Given the description of an element on the screen output the (x, y) to click on. 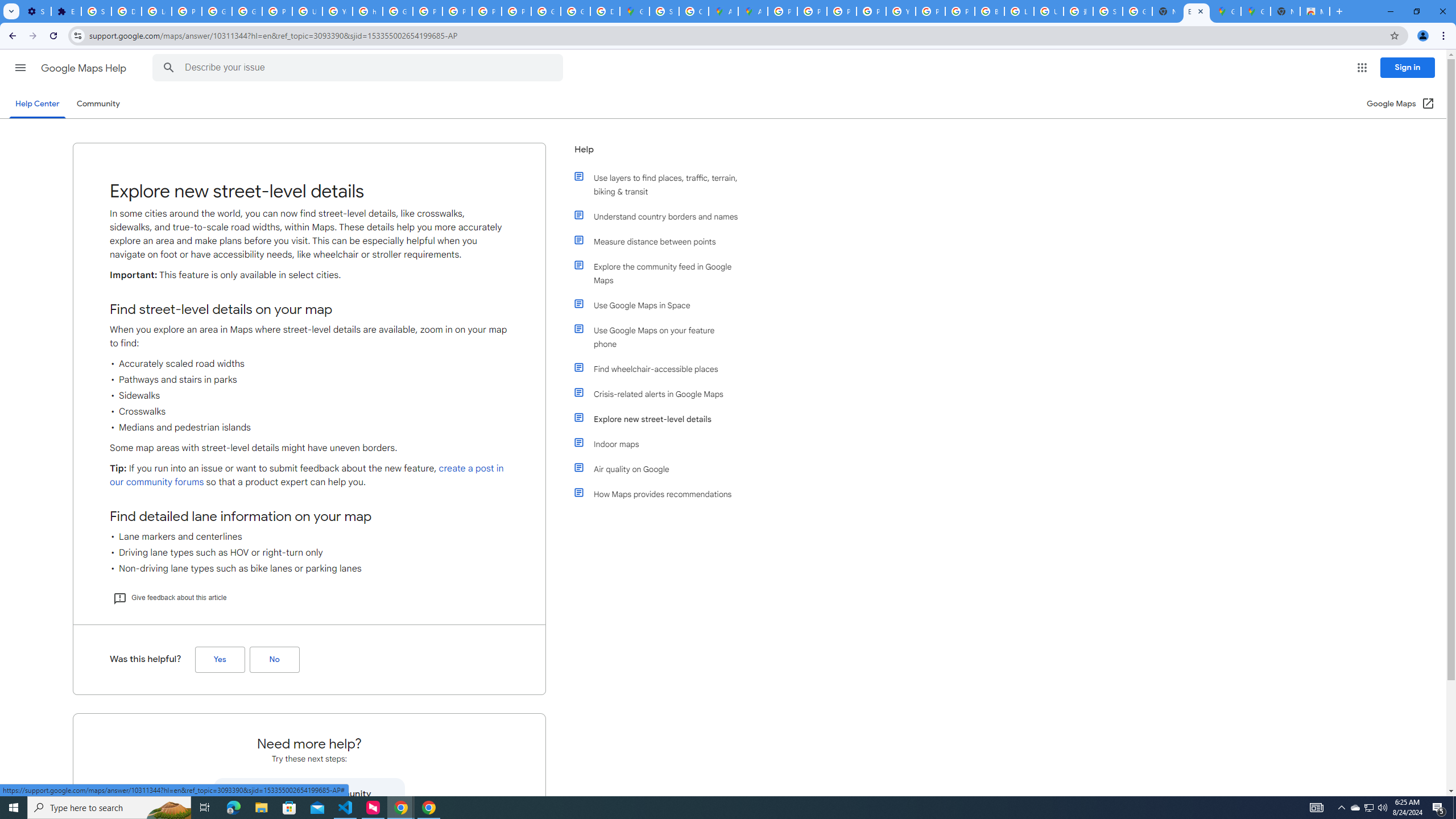
Create your Google Account (693, 11)
Google Maps (Open in a new window) (1400, 103)
Community (97, 103)
Explore new street-level details (661, 419)
https://scholar.google.com/ (367, 11)
YouTube (337, 11)
Google Maps (1255, 11)
